Given the description of an element on the screen output the (x, y) to click on. 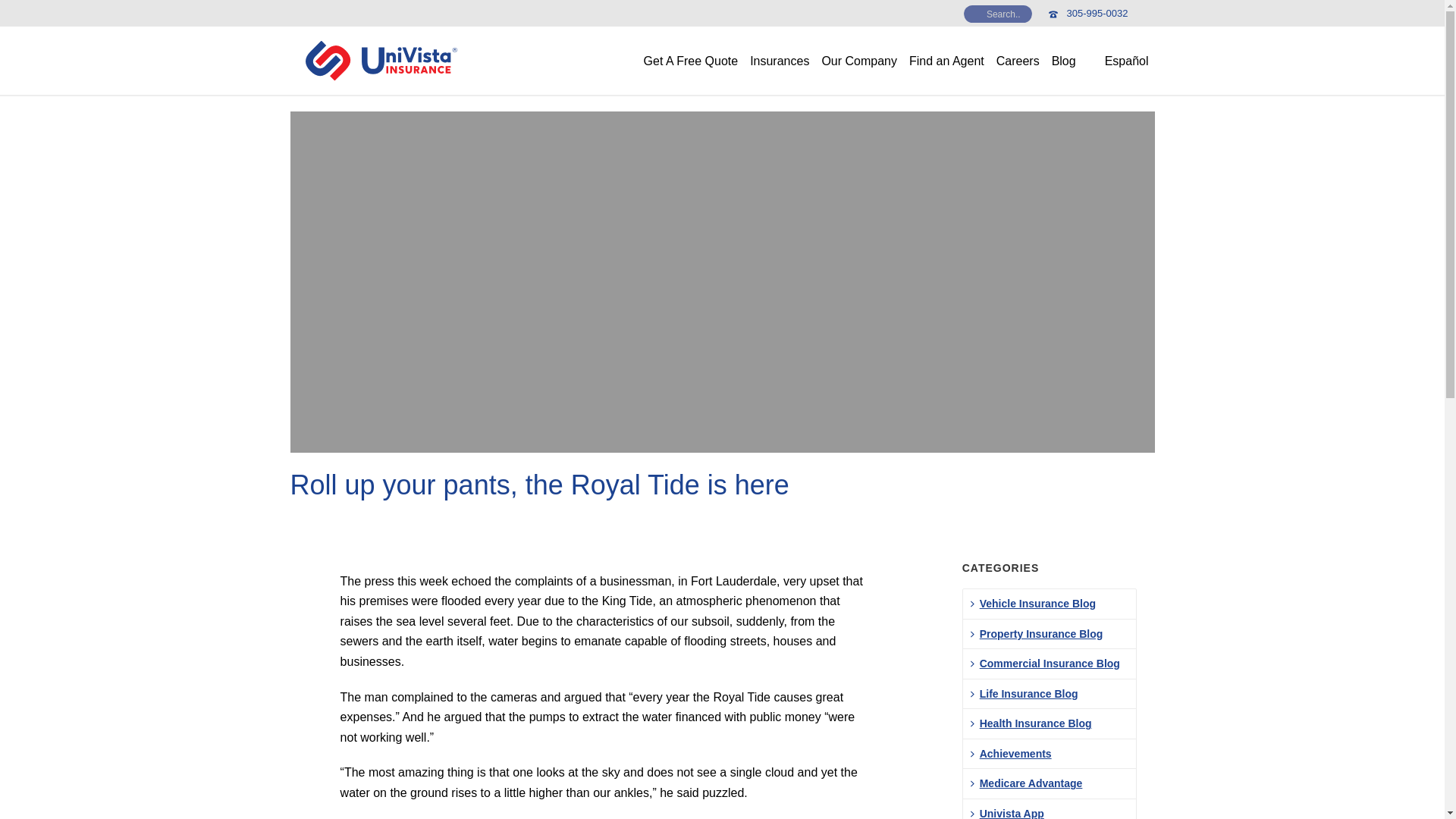
Blog (1063, 61)
Insurances (779, 61)
Get A Free Quote (690, 61)
Careers (1017, 61)
Insurances (779, 61)
Get A Free Quote (690, 61)
Our Company (858, 61)
Find an Agent (946, 61)
305-995-0032 (1097, 12)
UNIVISTA INSURANCE (380, 60)
